Given the description of an element on the screen output the (x, y) to click on. 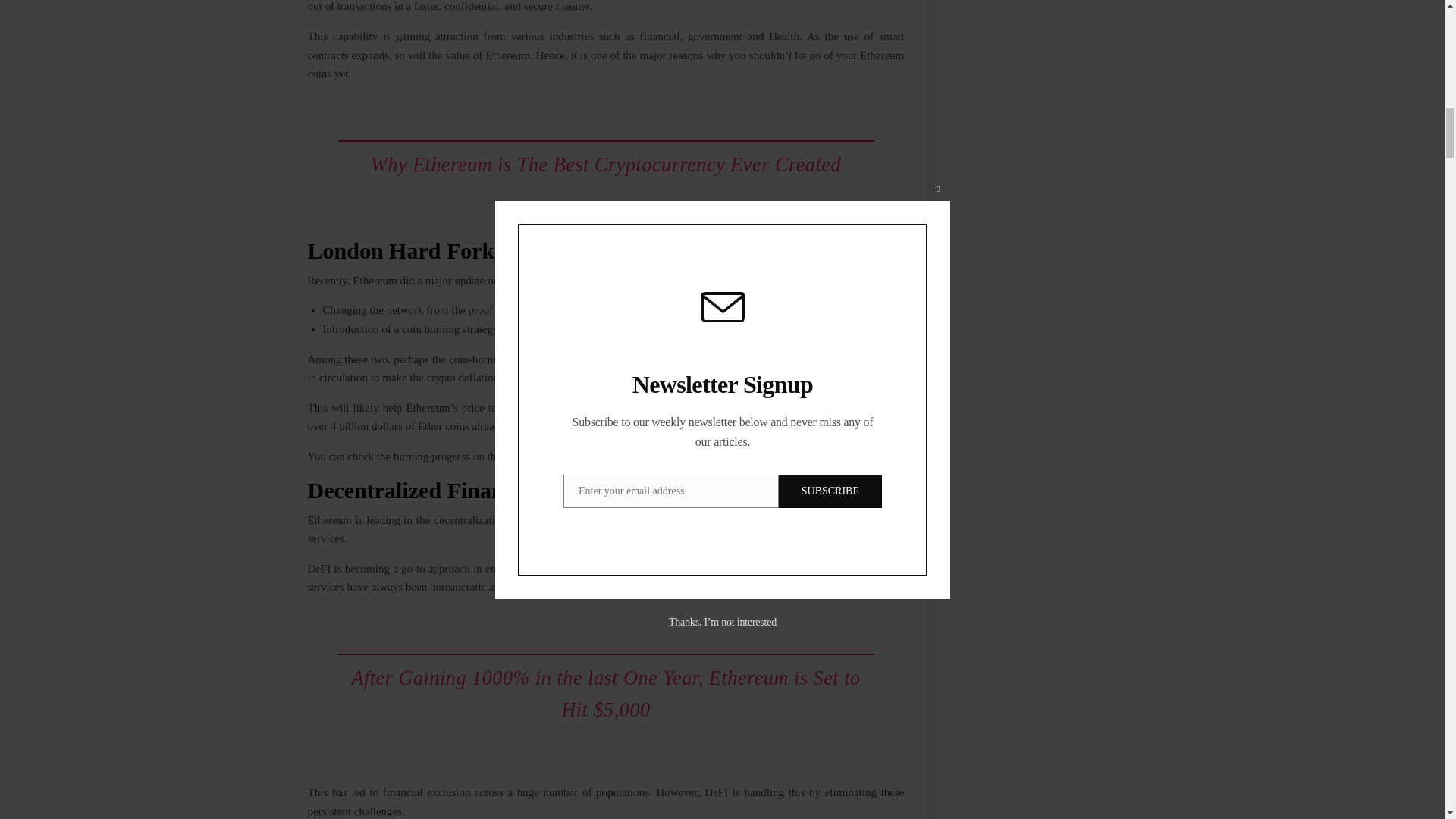
Why Ethereum is The Best Cryptocurrency Ever Created (606, 164)
watchtheburn website. (555, 456)
